Given the description of an element on the screen output the (x, y) to click on. 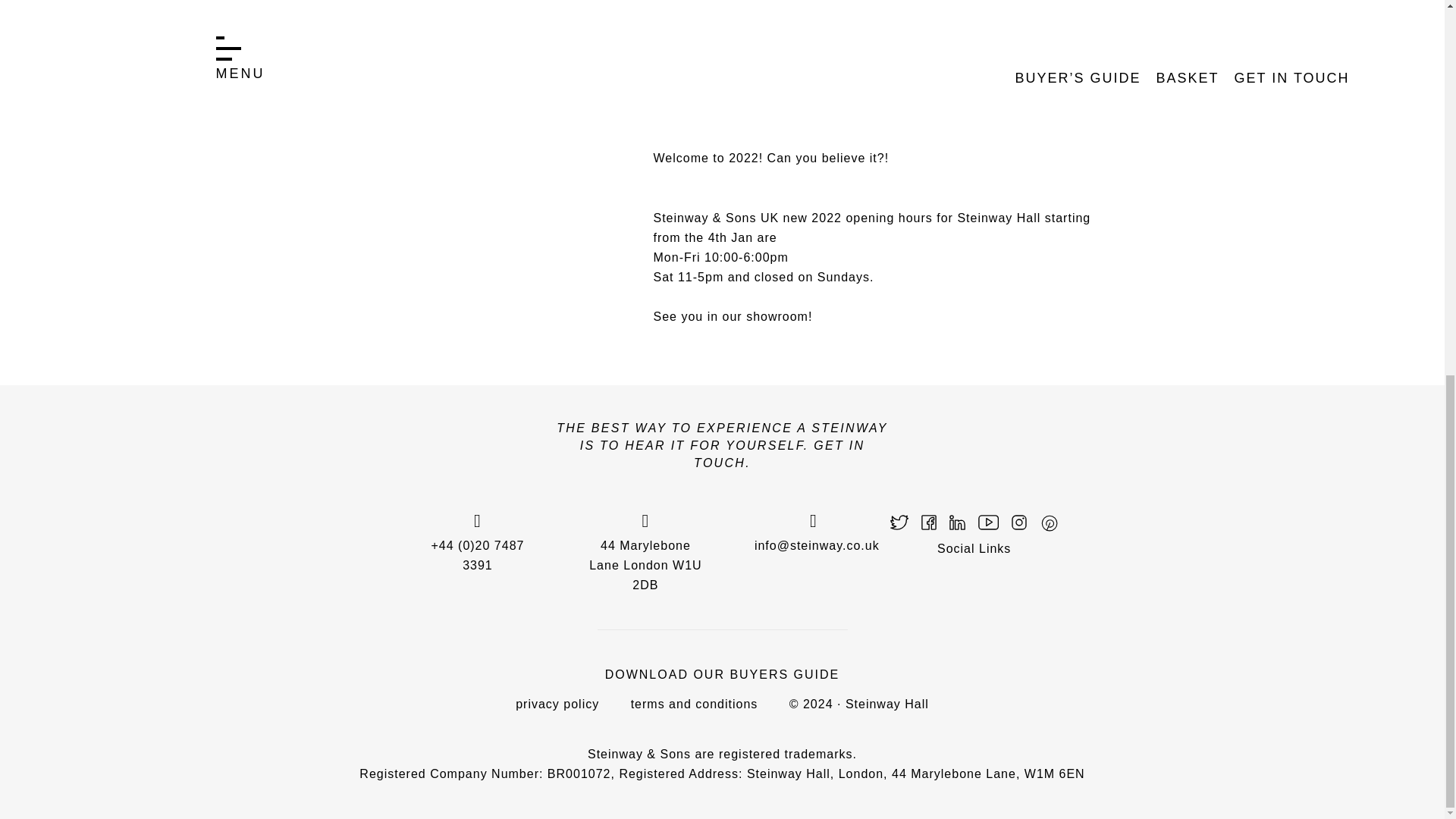
Call Us (478, 541)
See us on Twitter (898, 522)
Contact Us (816, 531)
See us on Pinterest (1048, 522)
See us on Instagram (1018, 522)
See us on LinkedIn (957, 522)
Our Address (645, 551)
See us on Facebook (928, 522)
See us on YouTube (988, 522)
